Given the description of an element on the screen output the (x, y) to click on. 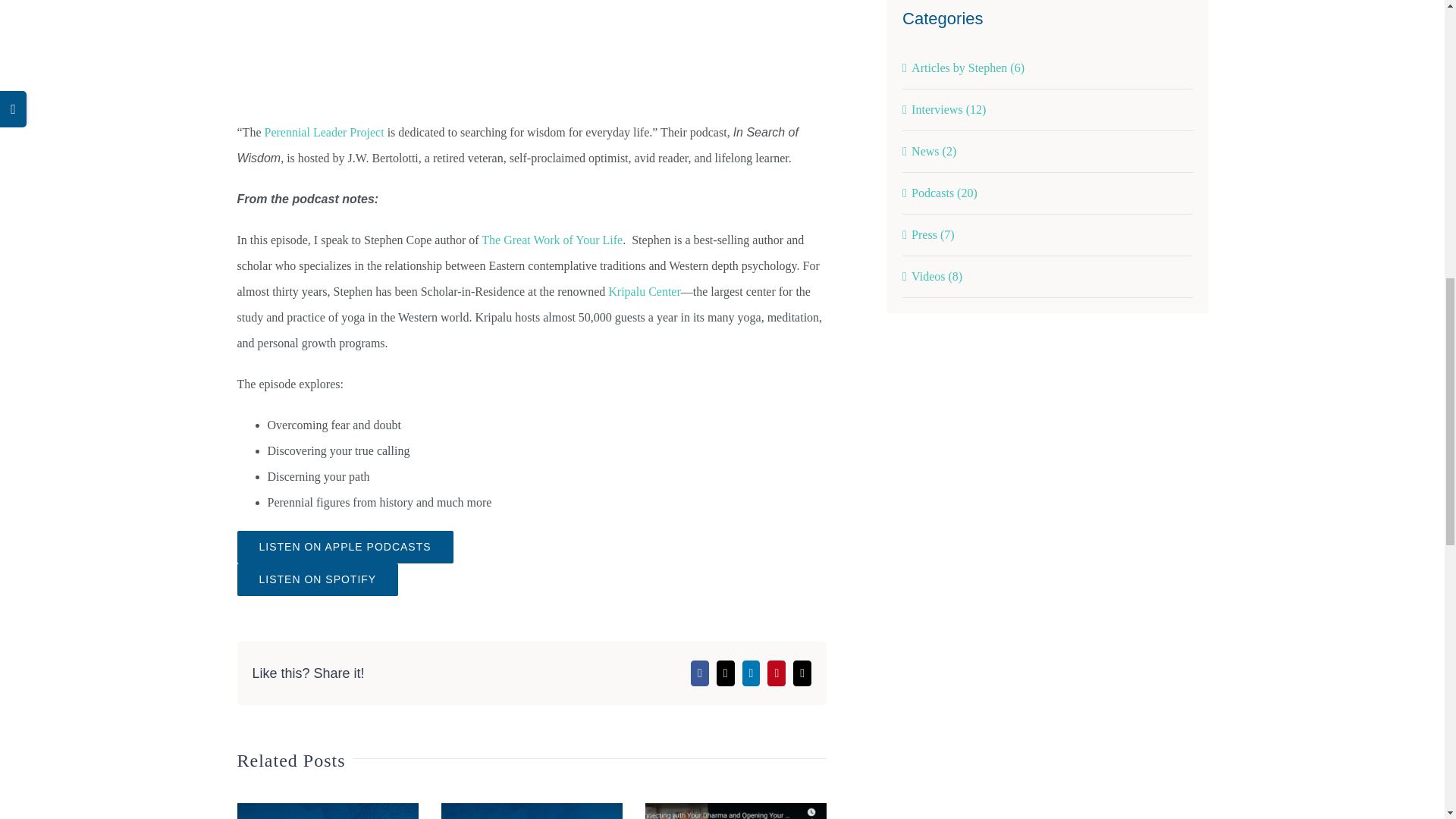
The Great Work of Your Life (552, 239)
Email (801, 673)
LinkedIn (751, 673)
Kripalu Center (644, 291)
X (725, 673)
Facebook (699, 673)
Pinterest (776, 673)
Perennial Leader Project (323, 132)
